Given the description of an element on the screen output the (x, y) to click on. 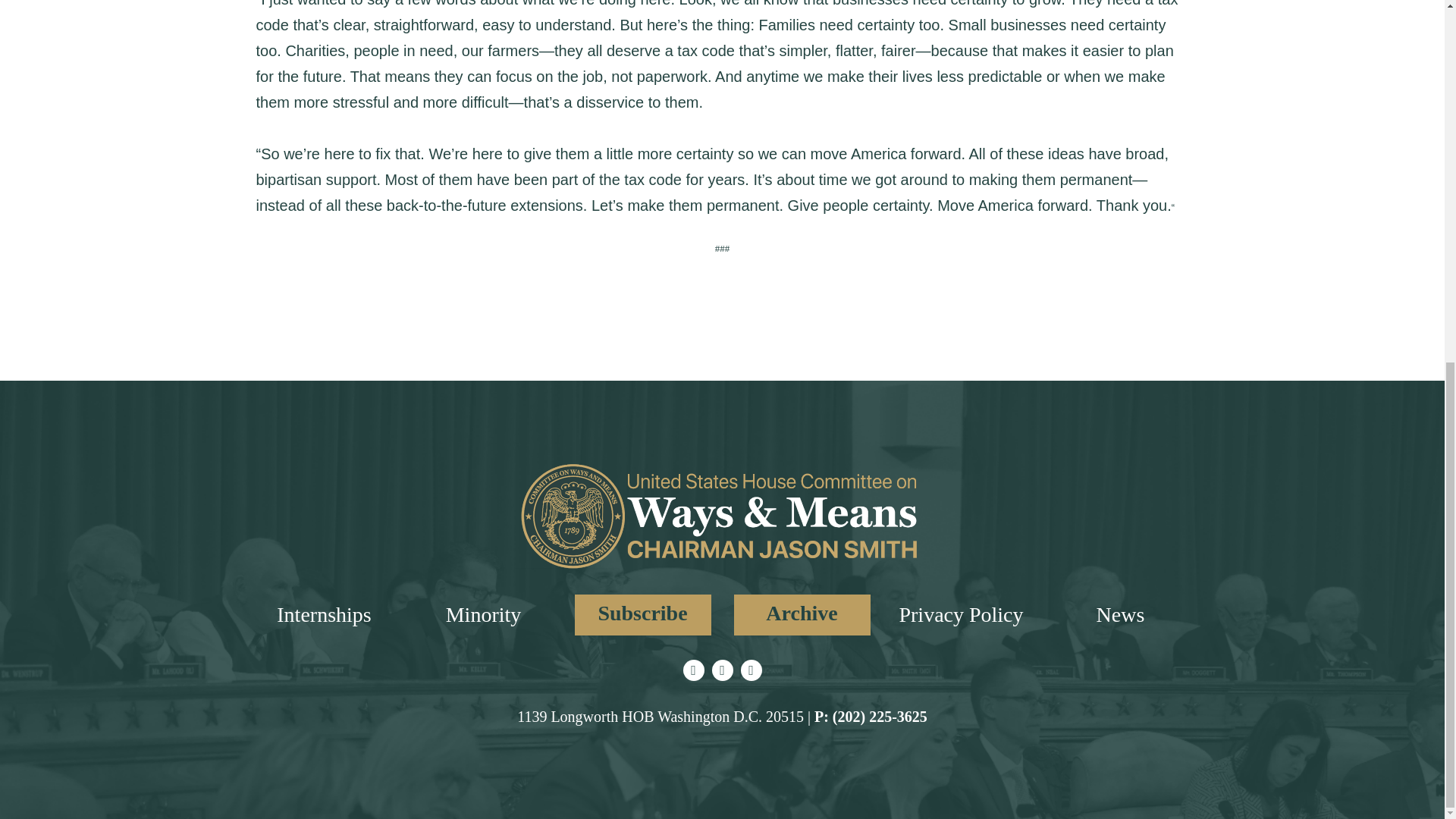
Instagram (721, 670)
Subscribe (643, 614)
Internships (323, 614)
News (1120, 614)
Archive (801, 614)
Twitter (692, 670)
Minority (483, 614)
Youtube (750, 670)
Privacy Policy (960, 614)
